Given the description of an element on the screen output the (x, y) to click on. 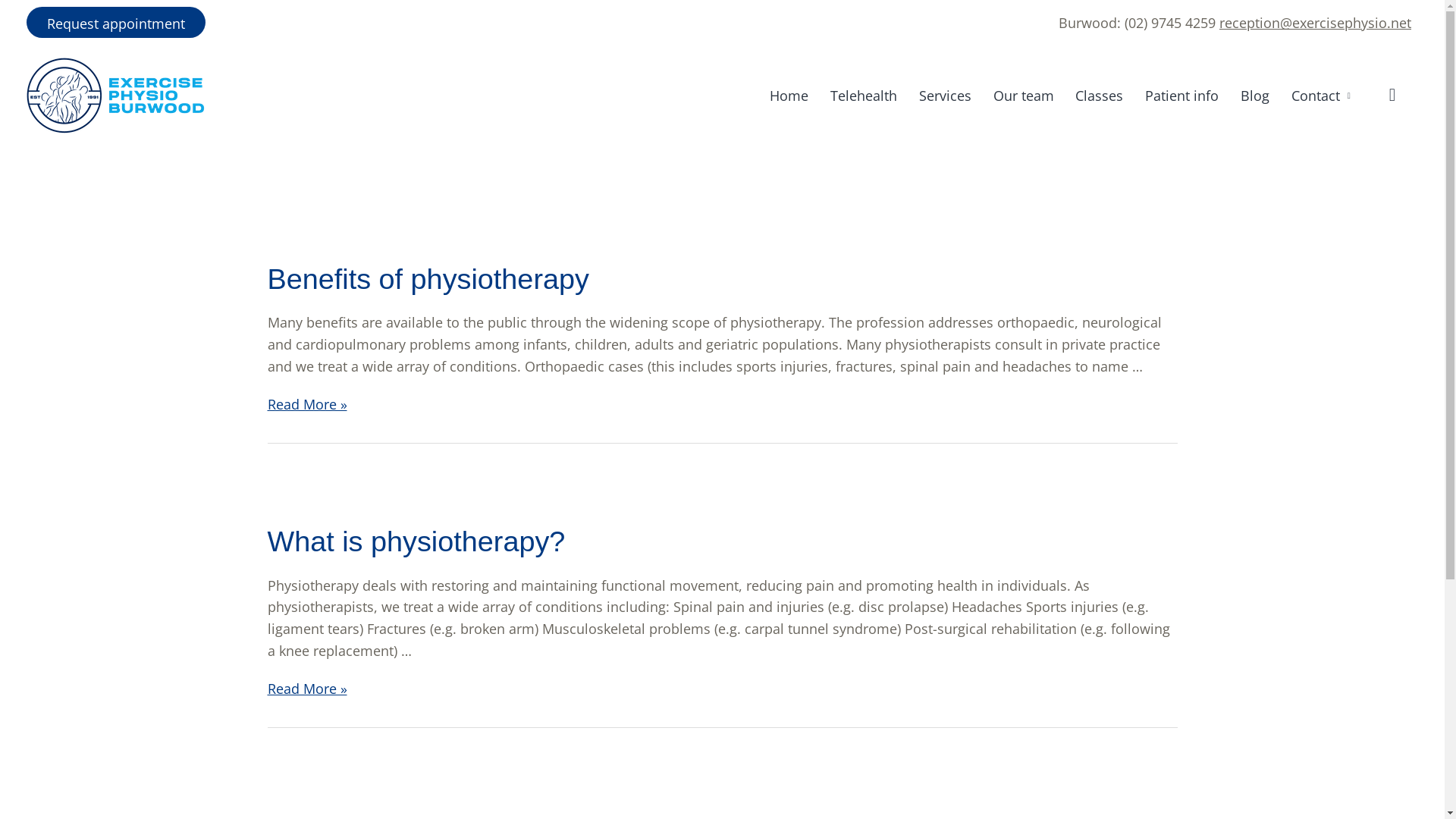
Search Element type: text (1389, 94)
What is physiotherapy? Element type: text (415, 541)
(02) 9745 4259 Element type: text (1169, 22)
Our team Element type: text (1023, 95)
Contact Element type: text (1320, 95)
Classes Element type: text (1099, 95)
Telehealth Element type: text (863, 95)
Request appointment Element type: text (115, 21)
Services Element type: text (944, 95)
Blog Element type: text (1255, 95)
Home Element type: text (789, 95)
Patient info Element type: text (1182, 95)
Benefits of physiotherapy Element type: text (427, 278)
Burwood Element type: text (1087, 22)
reception@exercisephysio.net Element type: text (1315, 22)
